Given the description of an element on the screen output the (x, y) to click on. 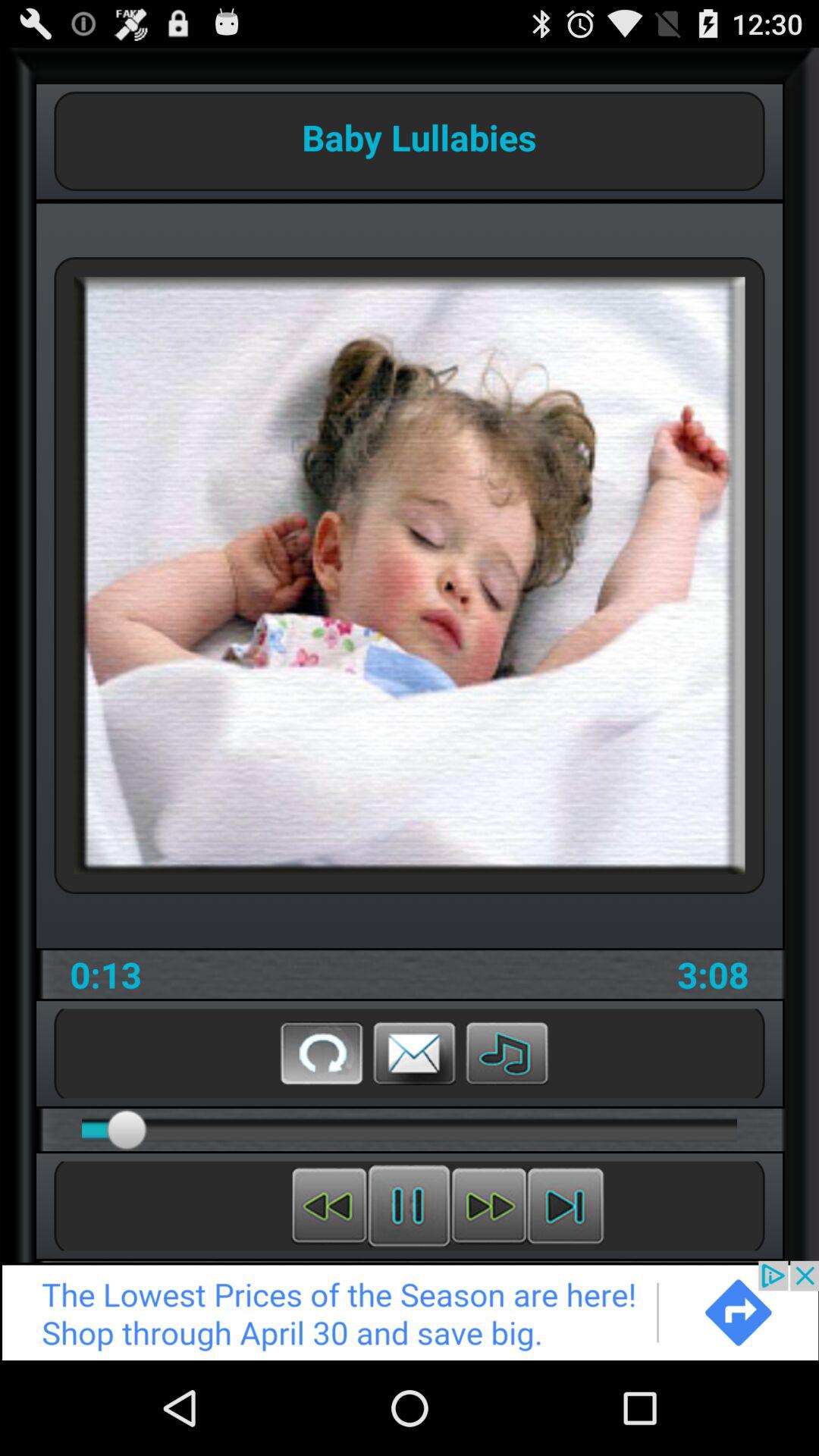
next song (488, 1205)
